Given the description of an element on the screen output the (x, y) to click on. 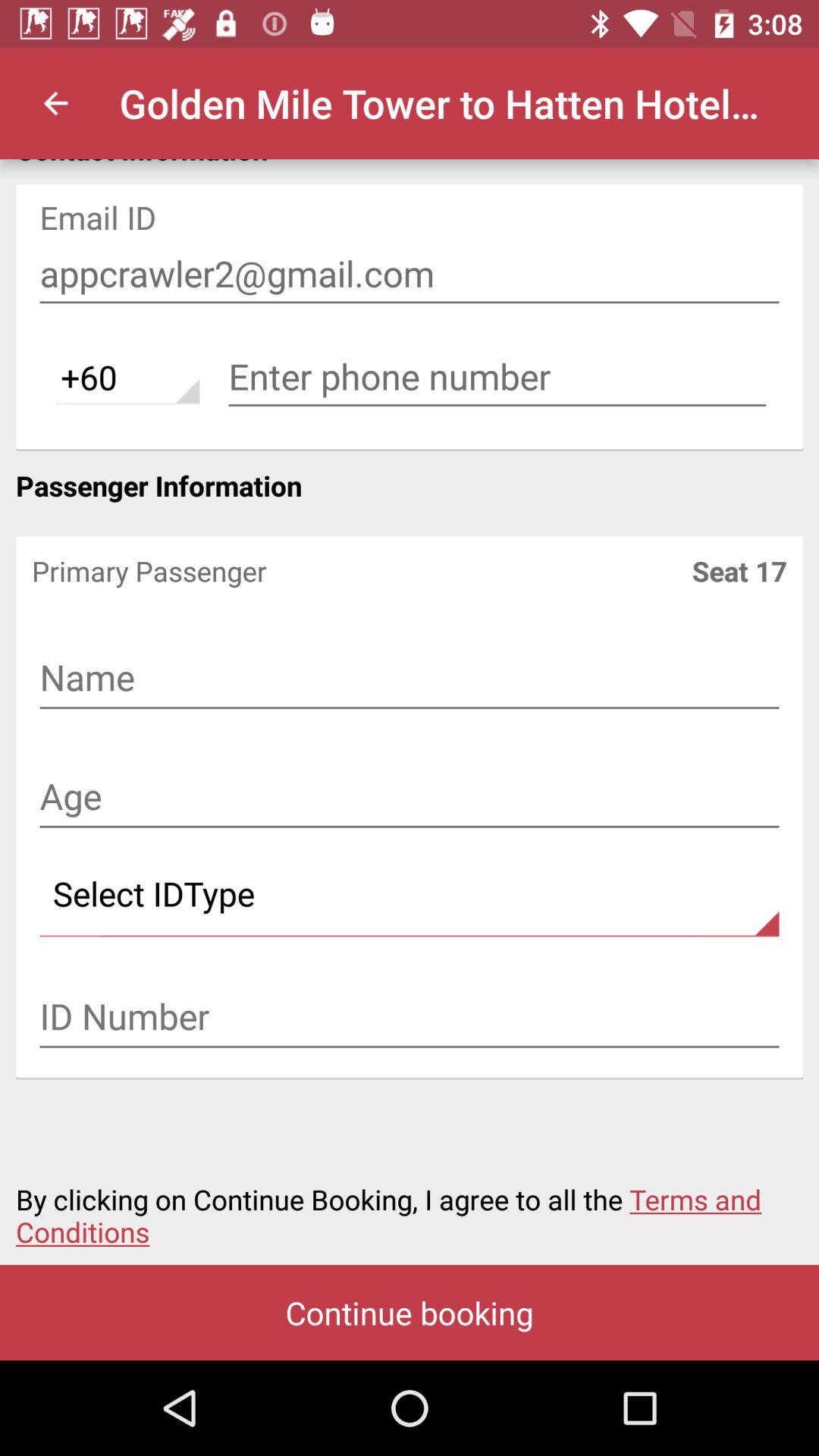
launch by clicking on item (409, 1206)
